Given the description of an element on the screen output the (x, y) to click on. 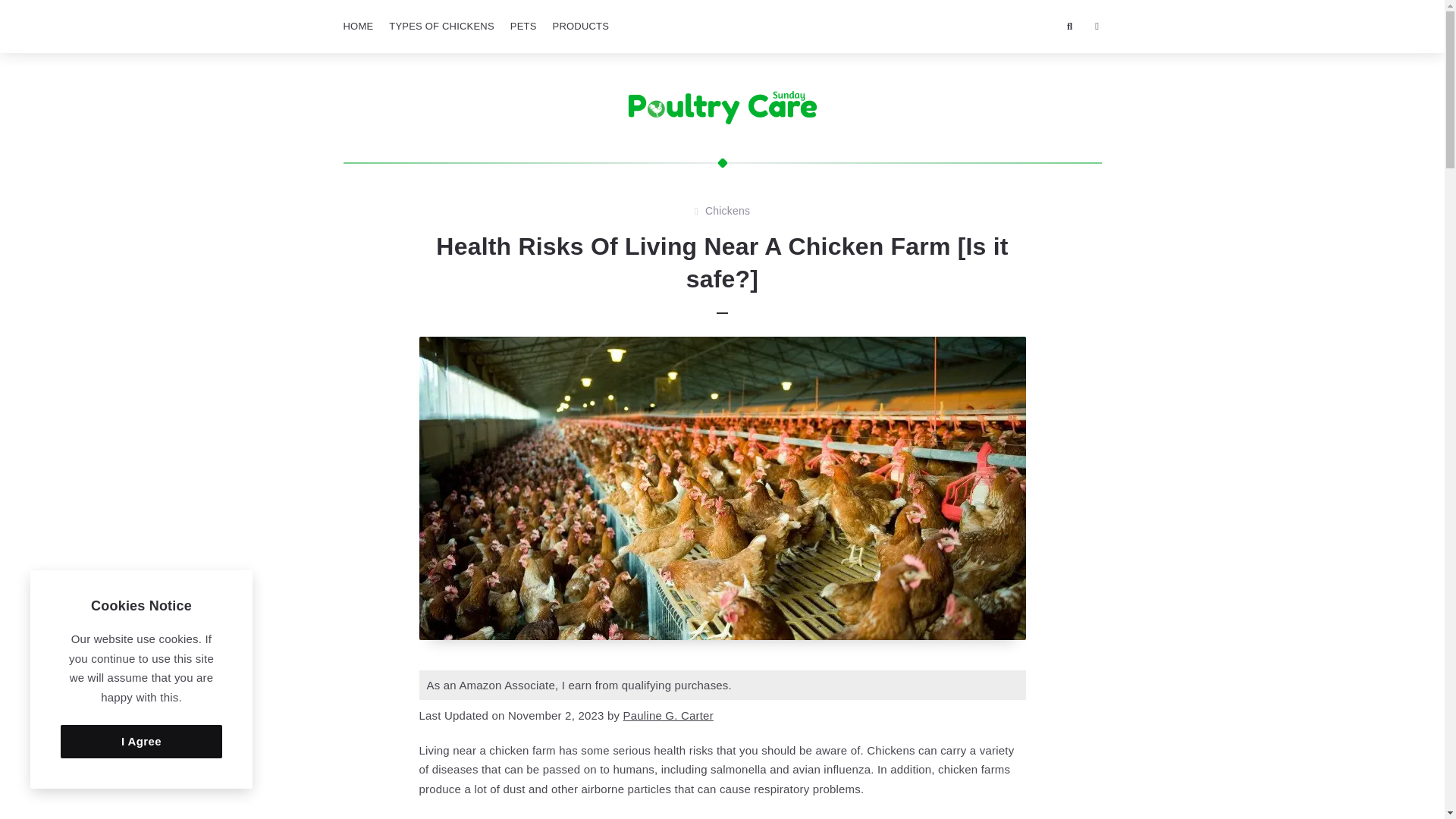
Pauline G. Carter (668, 715)
HOME (357, 26)
Chickens (726, 211)
PRODUCTS (580, 26)
TYPES OF CHICKENS (441, 26)
